Given the description of an element on the screen output the (x, y) to click on. 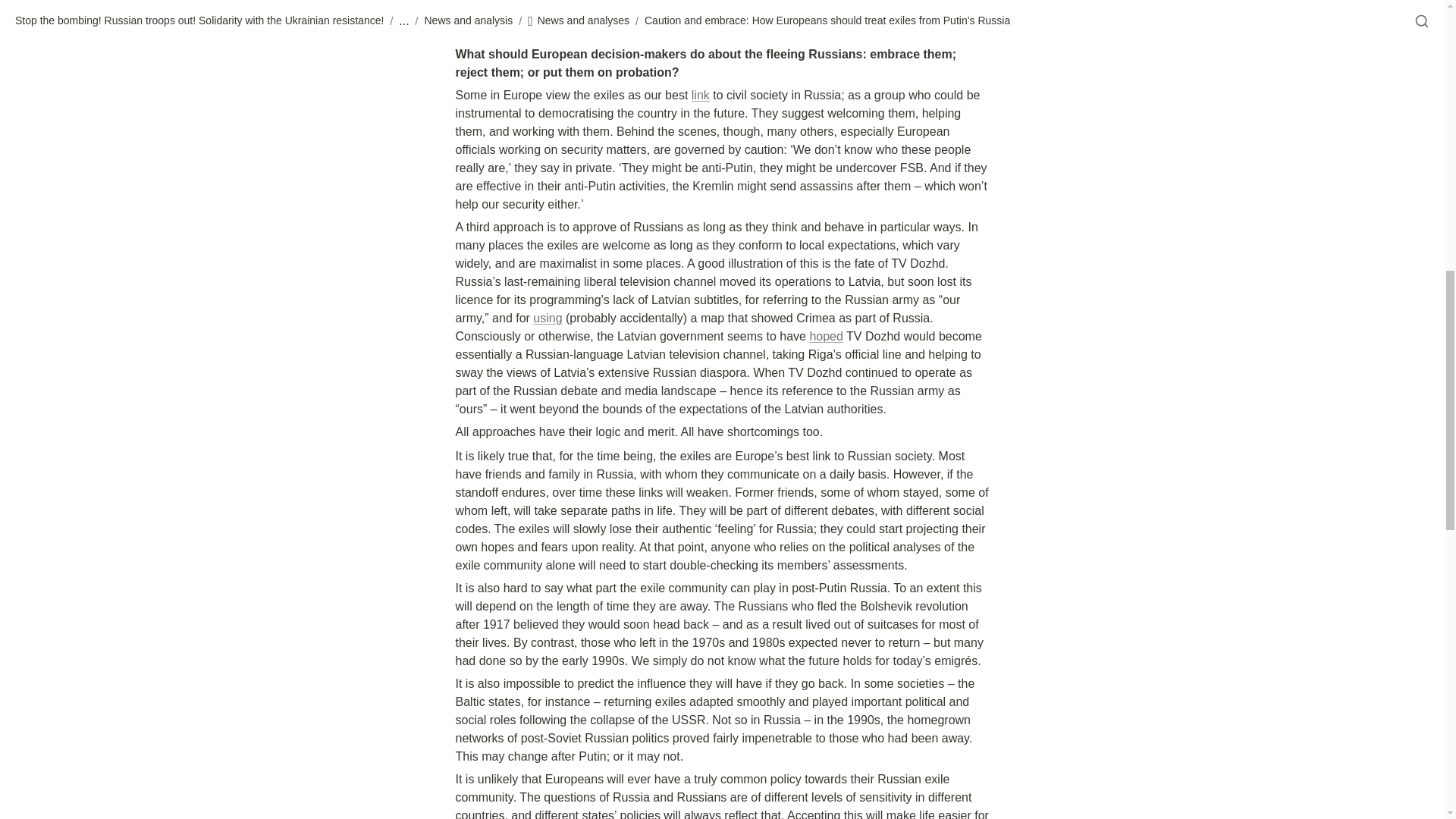
hoped (826, 336)
link (700, 94)
using (547, 318)
